Given the description of an element on the screen output the (x, y) to click on. 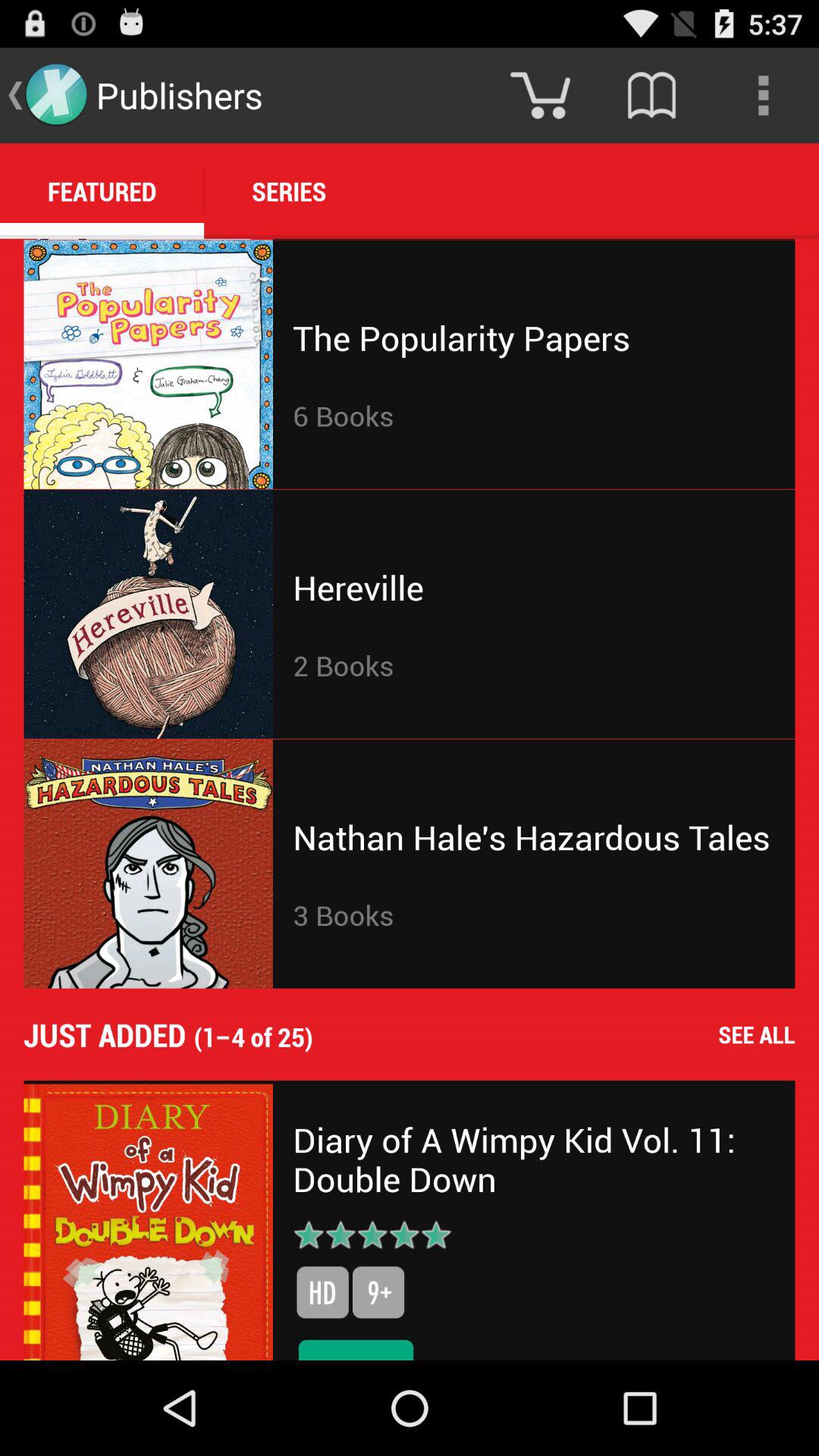
open the icon below the publishers item (289, 190)
